Given the description of an element on the screen output the (x, y) to click on. 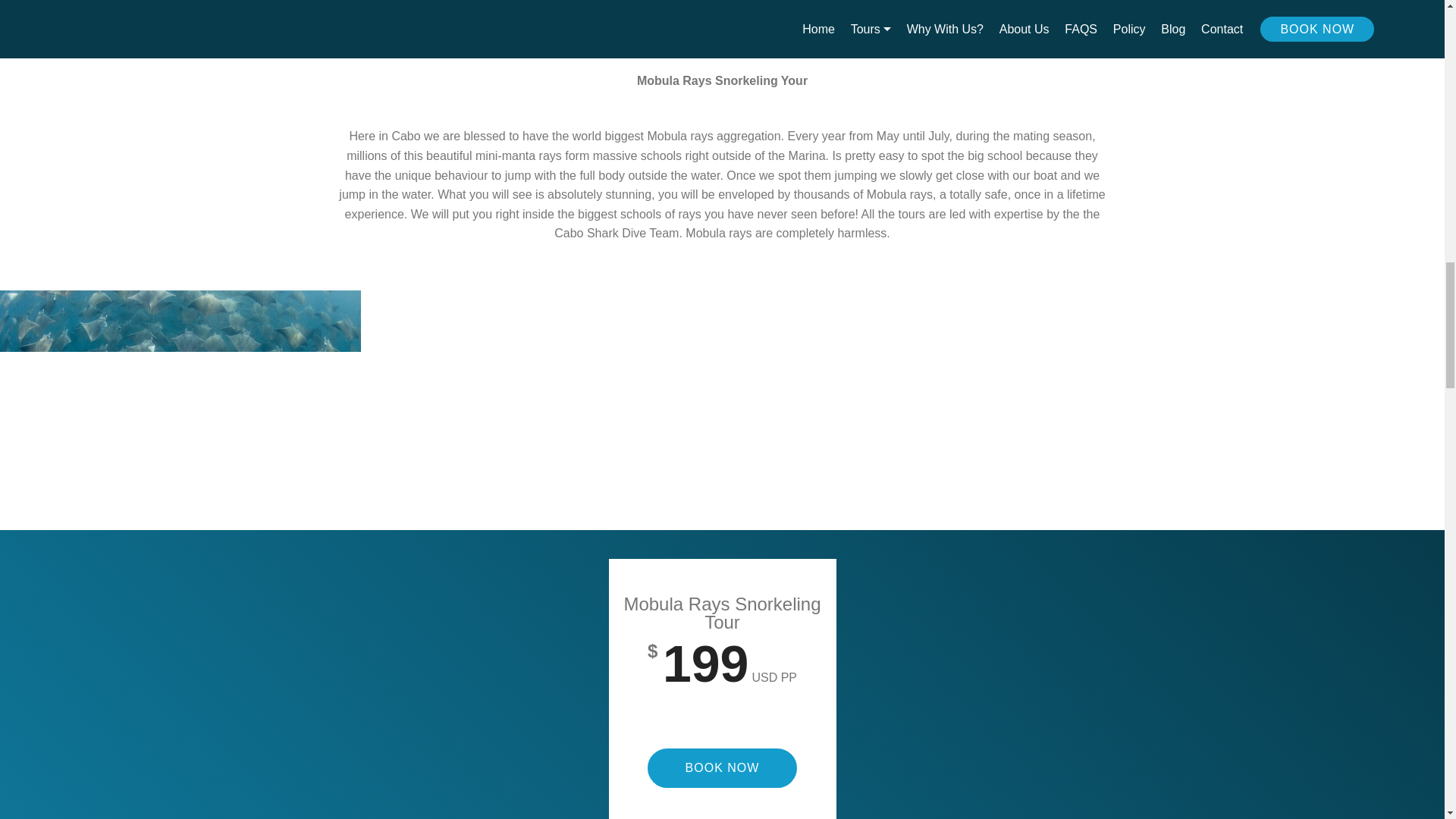
BOOK NOW (722, 767)
